Given the description of an element on the screen output the (x, y) to click on. 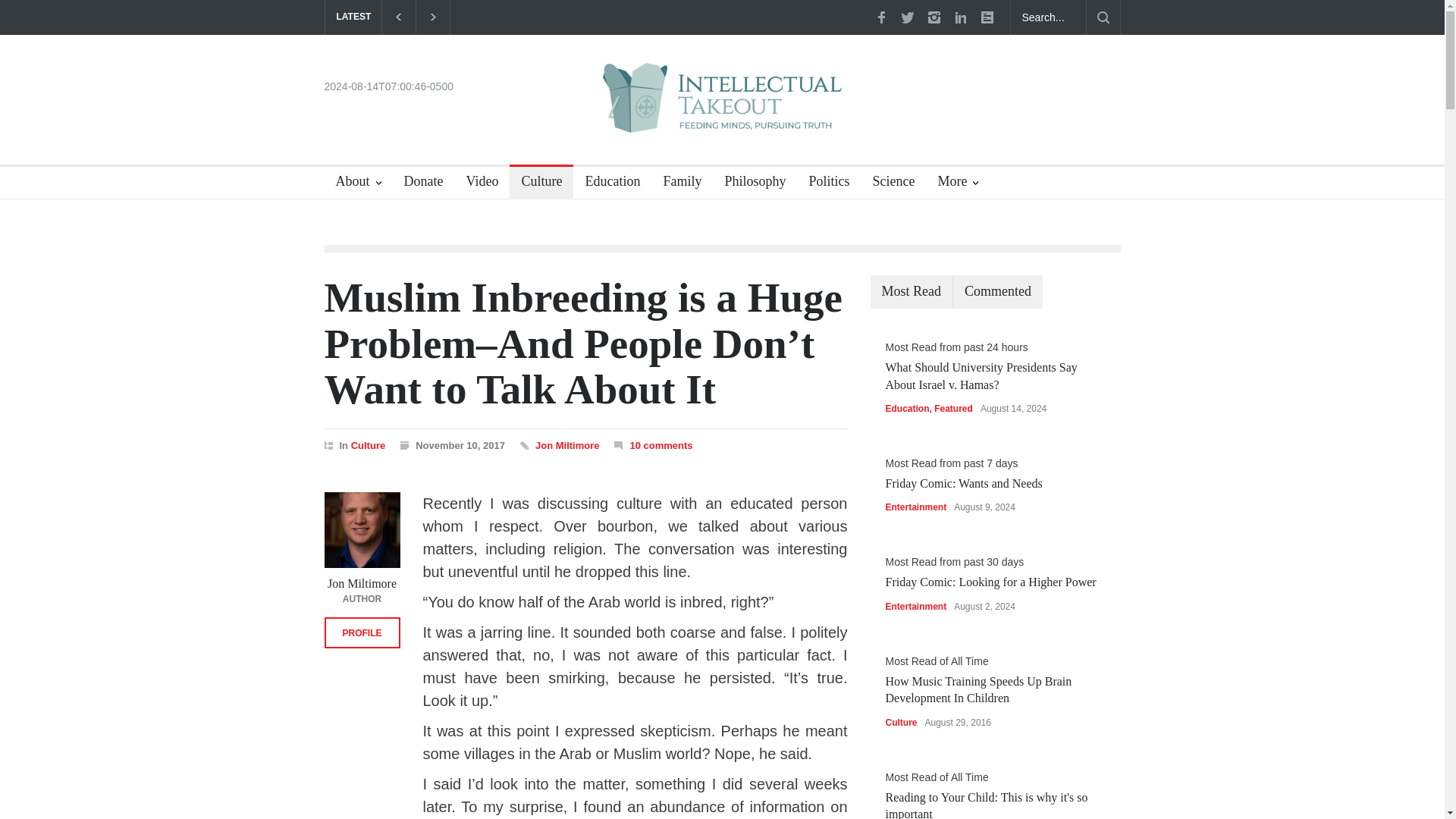
Jon Miltimore (567, 445)
View all posts filed under Culture (367, 445)
Culture (367, 445)
Education (606, 183)
Search... (1048, 17)
Philosophy (749, 183)
Family (675, 183)
Politics (822, 183)
